Given the description of an element on the screen output the (x, y) to click on. 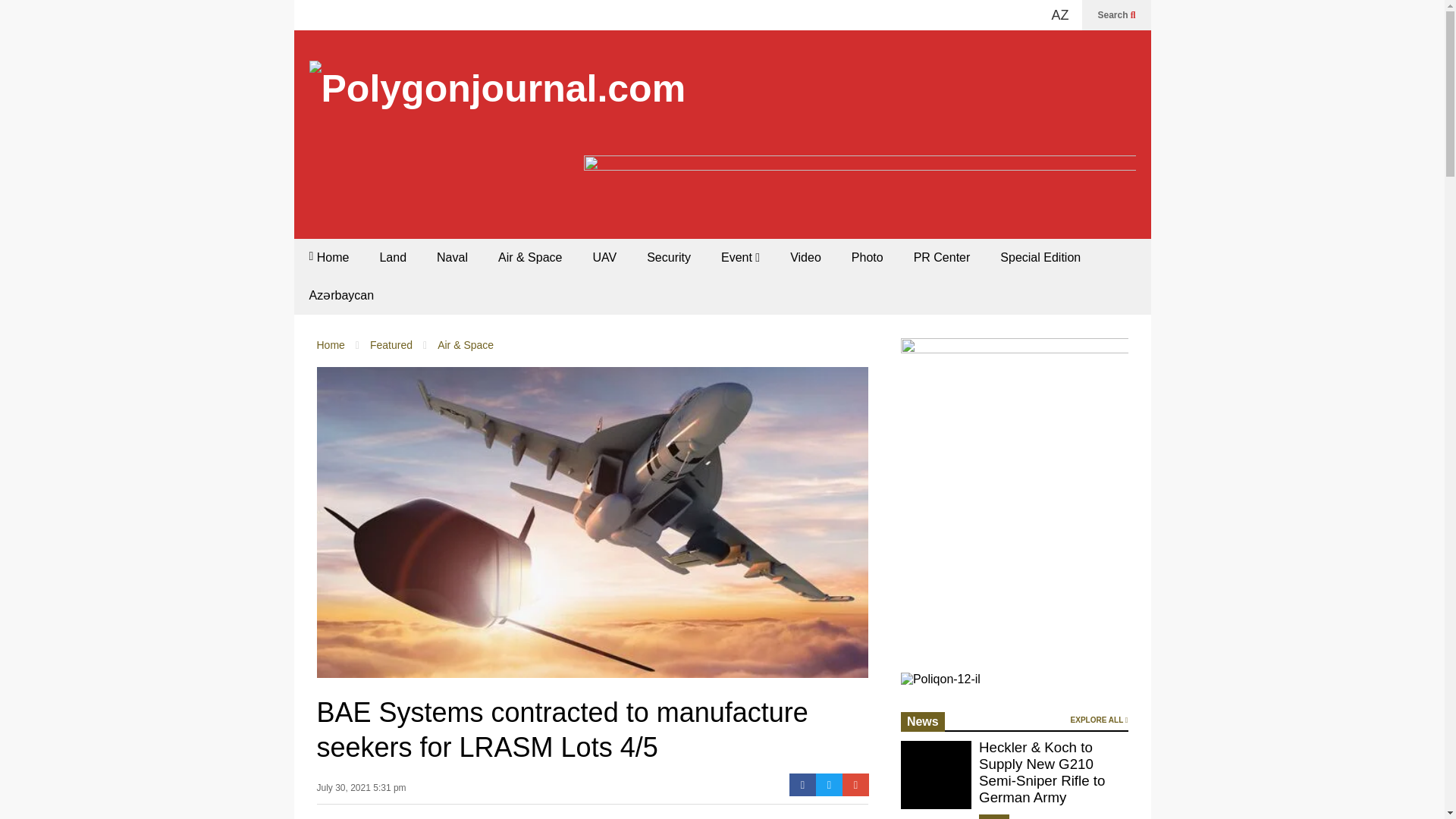
Photo (866, 257)
July 30, 2021 5:31 pm (361, 792)
Twitter (829, 784)
Home (331, 345)
Special Edition (1040, 257)
Land (393, 257)
Home (329, 257)
Event (740, 257)
AZ (1051, 15)
UAV (603, 257)
